Given the description of an element on the screen output the (x, y) to click on. 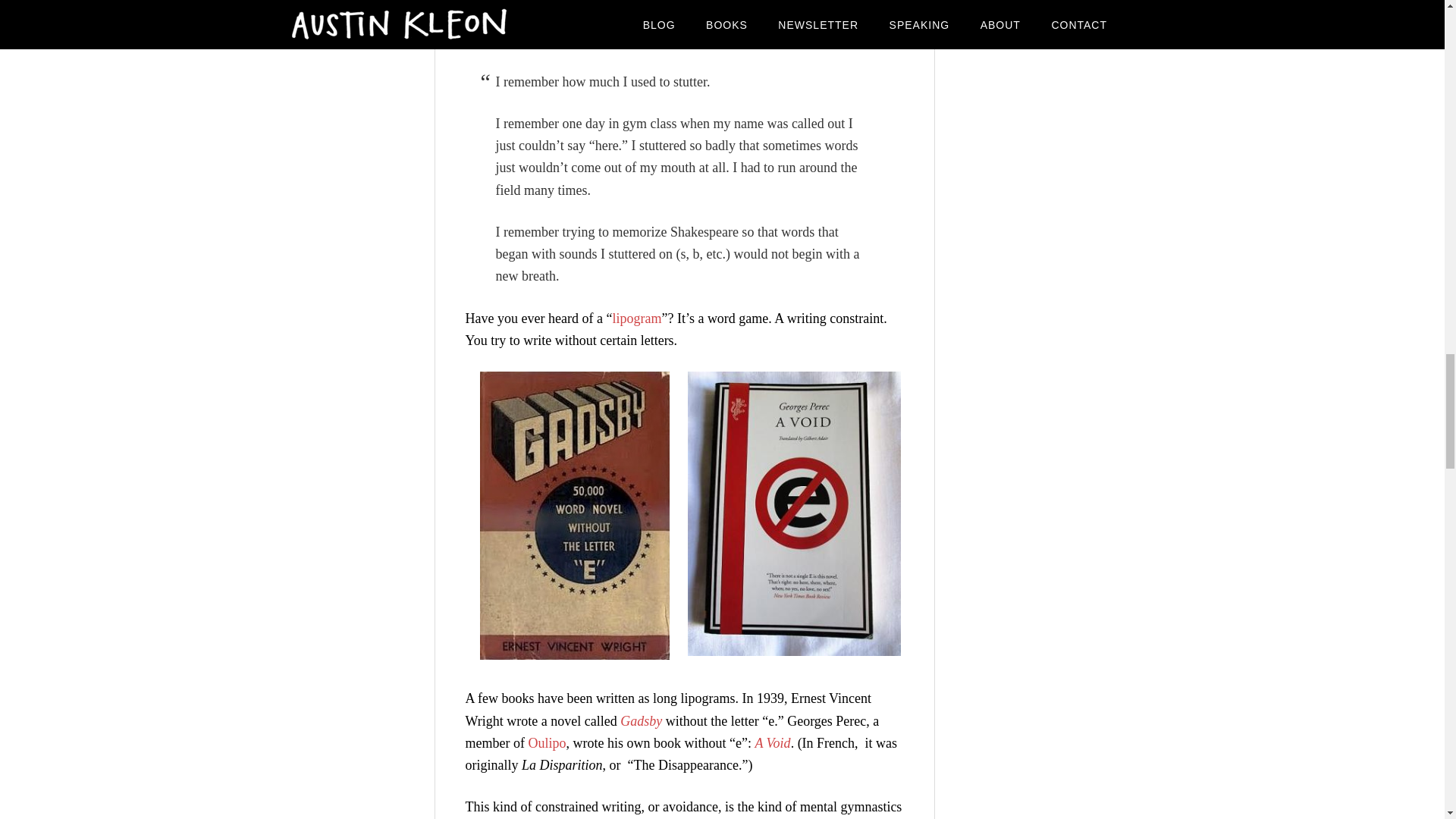
Gadsby (641, 720)
I Remember (655, 18)
lipogram (636, 318)
Oulipo (546, 743)
A Void (772, 743)
